Given the description of an element on the screen output the (x, y) to click on. 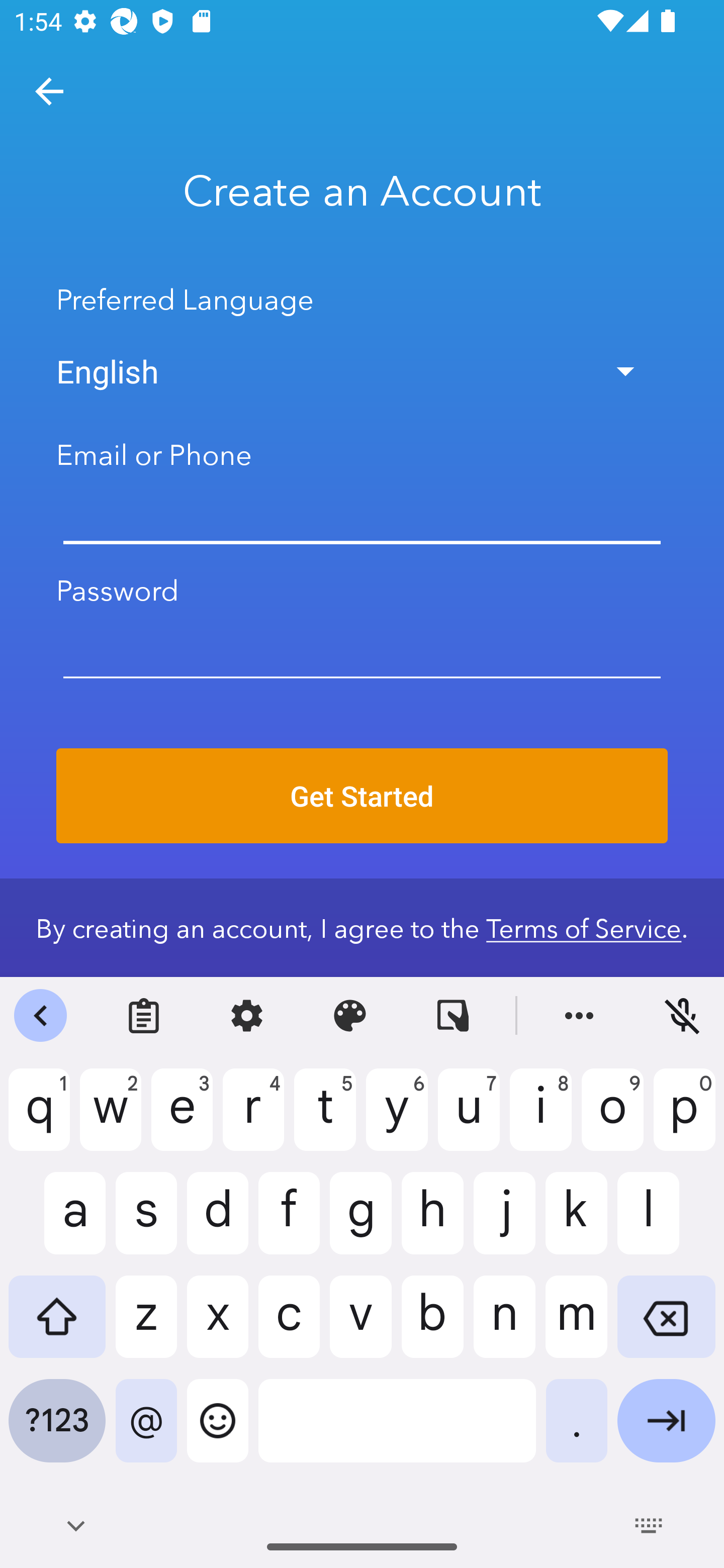
Navigate up (49, 91)
English (361, 370)
Get Started (361, 795)
